Given the description of an element on the screen output the (x, y) to click on. 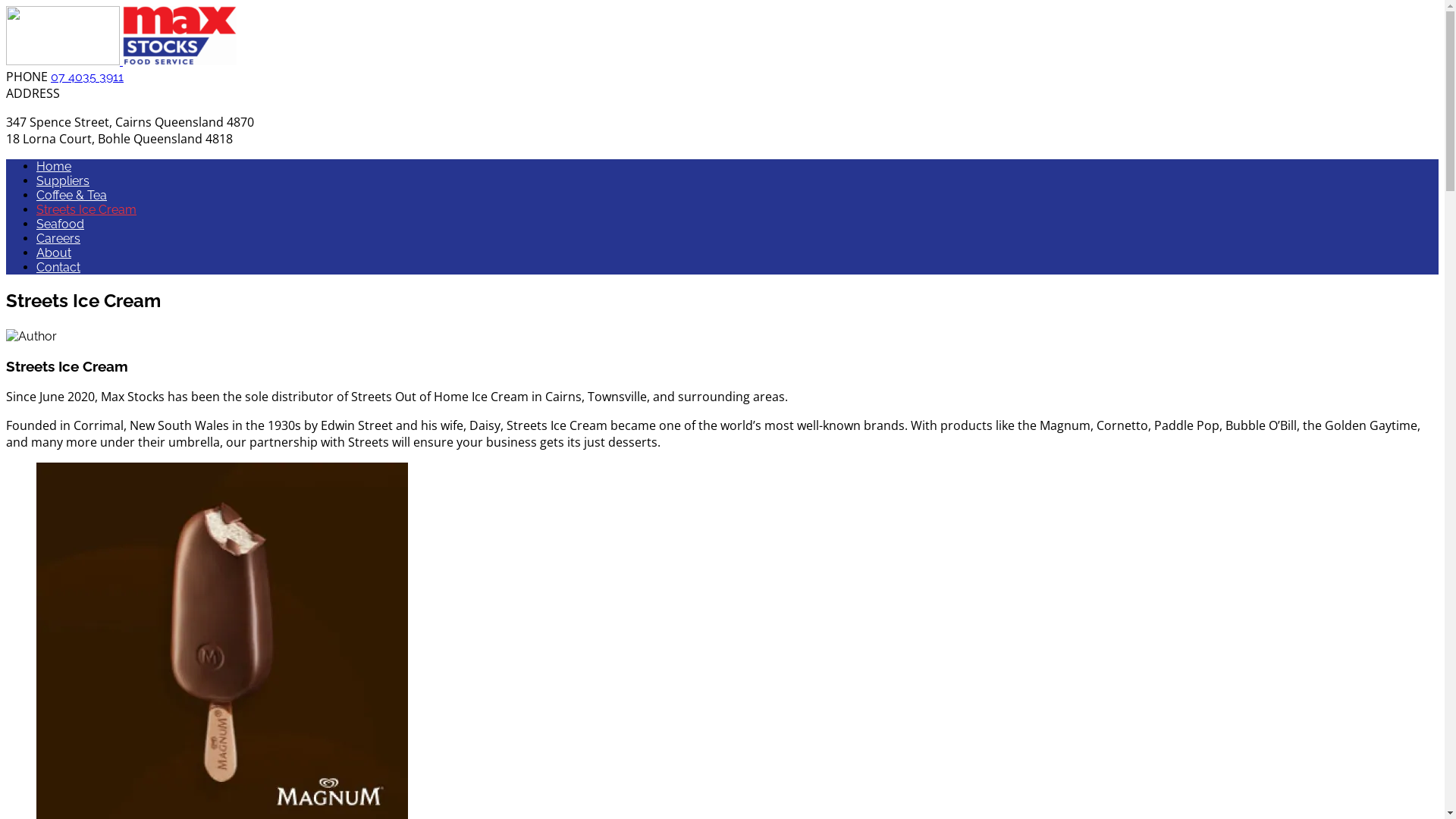
Coffee & Tea Element type: text (71, 195)
Suppliers Element type: text (62, 180)
CREDIT APPLICATION Element type: text (1242, 312)
ORDER ONLINE Element type: text (1381, 312)
Careers Element type: text (58, 238)
Streets Ice Cream Element type: text (86, 209)
Contact Element type: text (58, 267)
Seafood Element type: text (60, 223)
07 4035 3911 Element type: text (86, 76)
About Element type: text (53, 252)
Home Element type: text (53, 166)
